Given the description of an element on the screen output the (x, y) to click on. 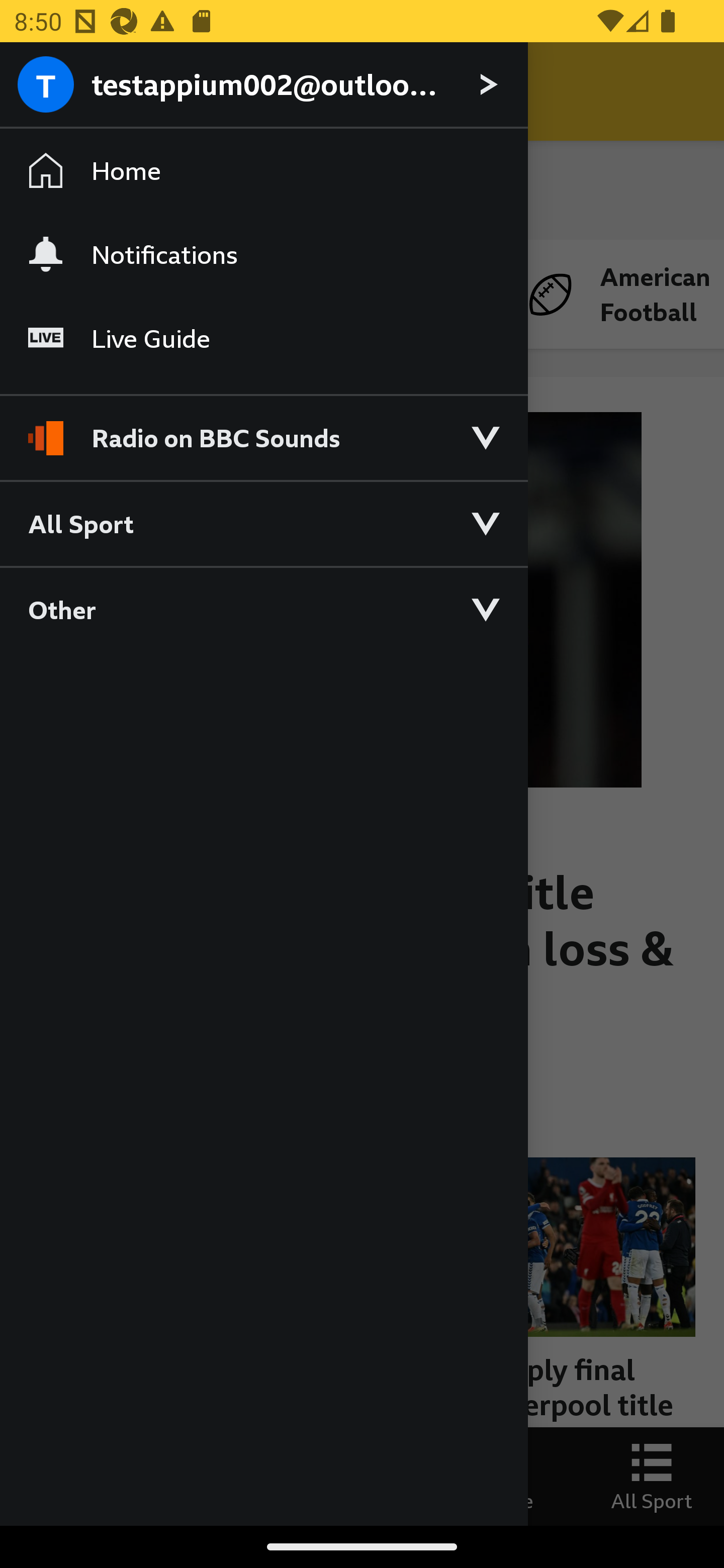
testappium002@outlook.com (263, 85)
Home (263, 170)
Notifications (263, 253)
Live Guide (263, 338)
Radio on BBC Sounds (263, 429)
All Sport (263, 522)
Other (263, 609)
